Given the description of an element on the screen output the (x, y) to click on. 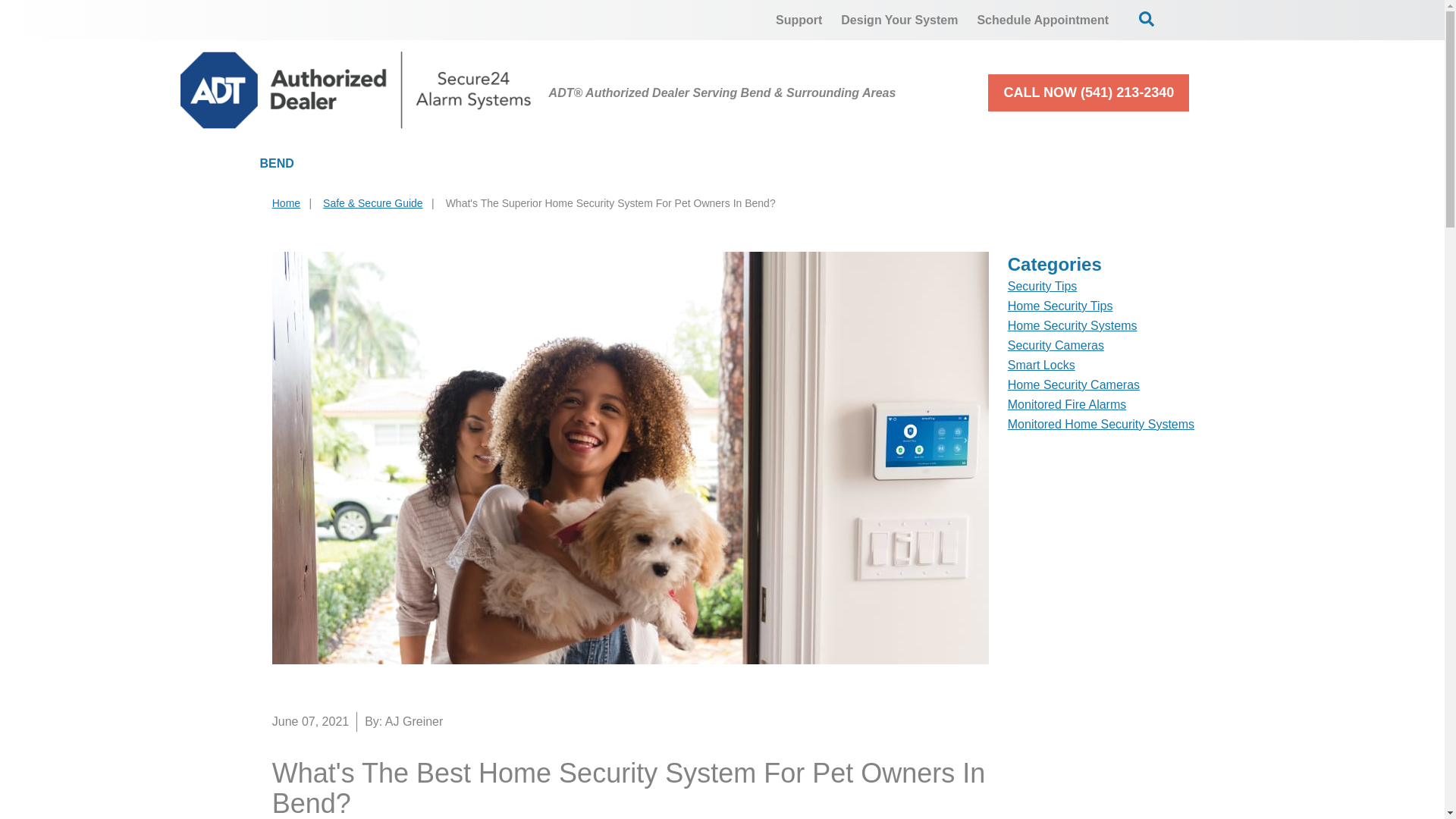
Design Your System (898, 20)
Support (798, 20)
Secure24 Alarm Systems Home (355, 89)
Cameras (573, 163)
Home Security (417, 163)
Open Search (1146, 18)
Schedule Appointment (1042, 20)
Home Automation (739, 163)
